Given the description of an element on the screen output the (x, y) to click on. 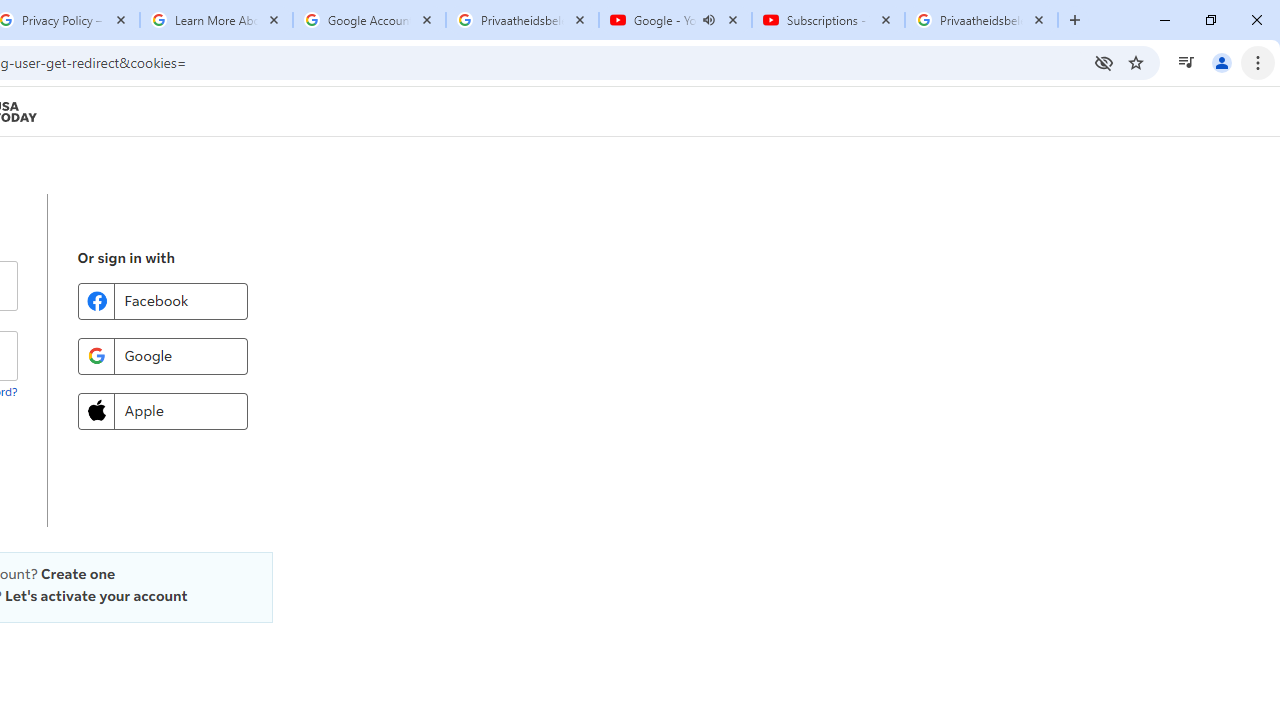
Google - YouTube - Audio playing (675, 20)
New Tab (1075, 20)
Control your music, videos, and more (1185, 62)
Google (162, 355)
